Given the description of an element on the screen output the (x, y) to click on. 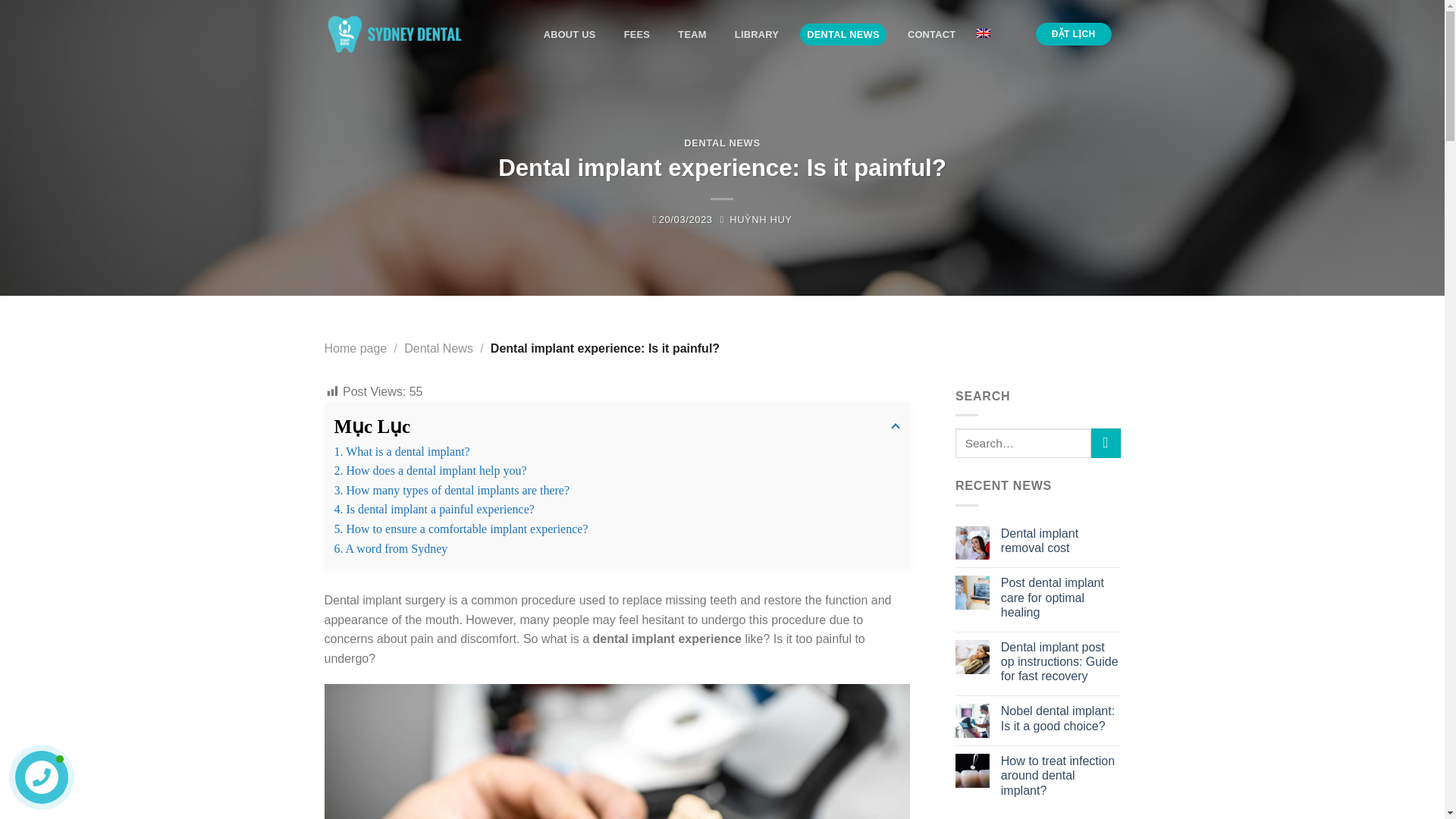
Nobel dental implant: Is it a good choice?  (1061, 717)
DENTAL NEWS (842, 33)
DENTAL NEWS (722, 142)
Nha Khoa Sydney - Nha Khoa Sydney (400, 34)
3. How many types of dental implants are there? (616, 490)
2. How does a dental implant help you? (616, 470)
Home page (355, 348)
1. What is a dental implant? (616, 451)
ABOUT US (568, 33)
CONTACT (930, 33)
Post dental implant care for optimal healing (1061, 597)
Post dental implant care for optimal healing (1061, 597)
6. A word from Sydney  (616, 548)
Dental implant removal cost (1061, 540)
